Given the description of an element on the screen output the (x, y) to click on. 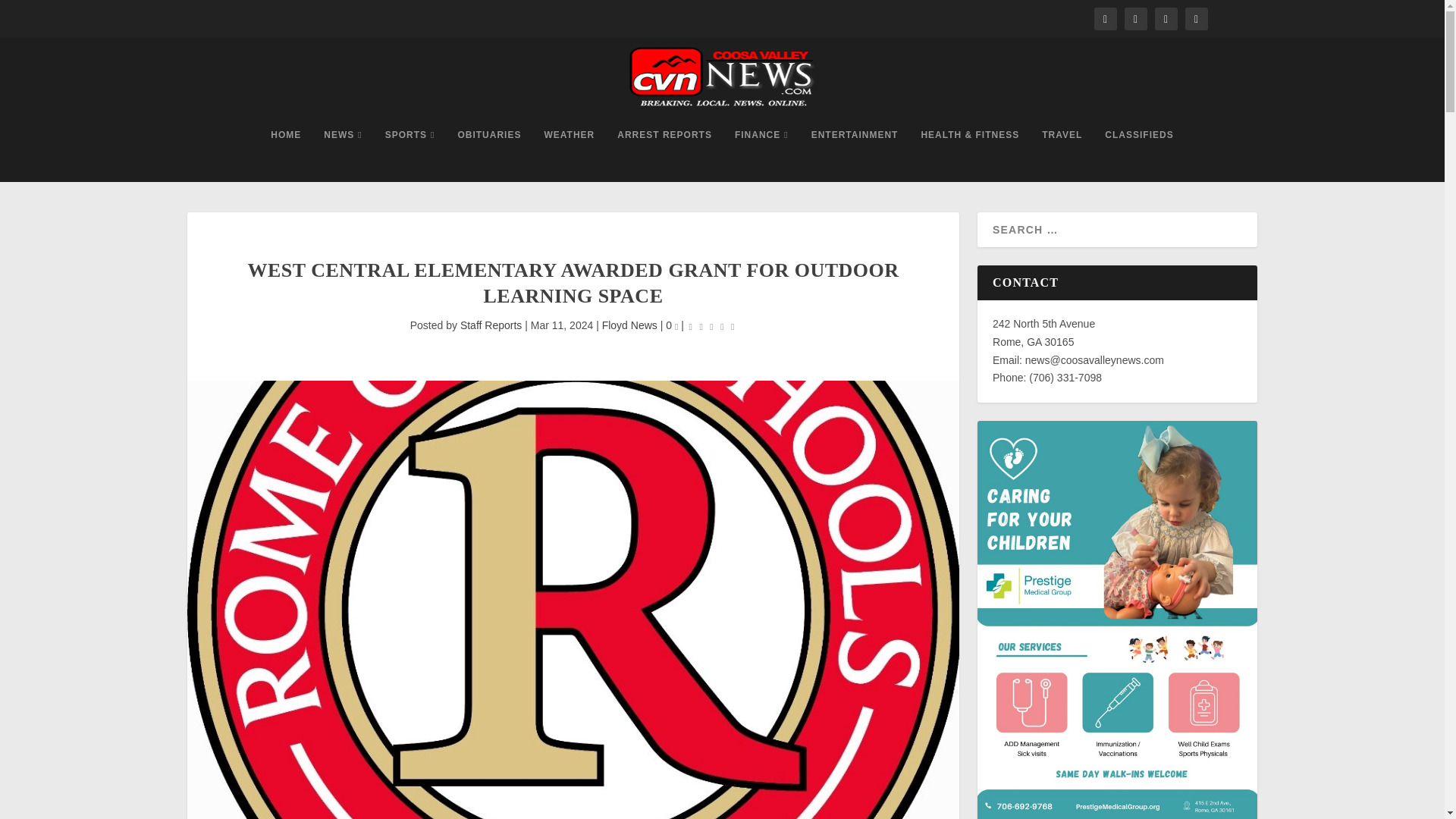
CLASSIFIEDS (1139, 154)
Posts by Staff Reports (490, 325)
Staff Reports (490, 325)
0 (671, 325)
FINANCE (762, 154)
ENTERTAINMENT (854, 154)
Floyd News (630, 325)
WEATHER (568, 154)
Rating: 0.00 (711, 325)
ARREST REPORTS (664, 154)
SPORTS (410, 154)
OBITUARIES (489, 154)
